Given the description of an element on the screen output the (x, y) to click on. 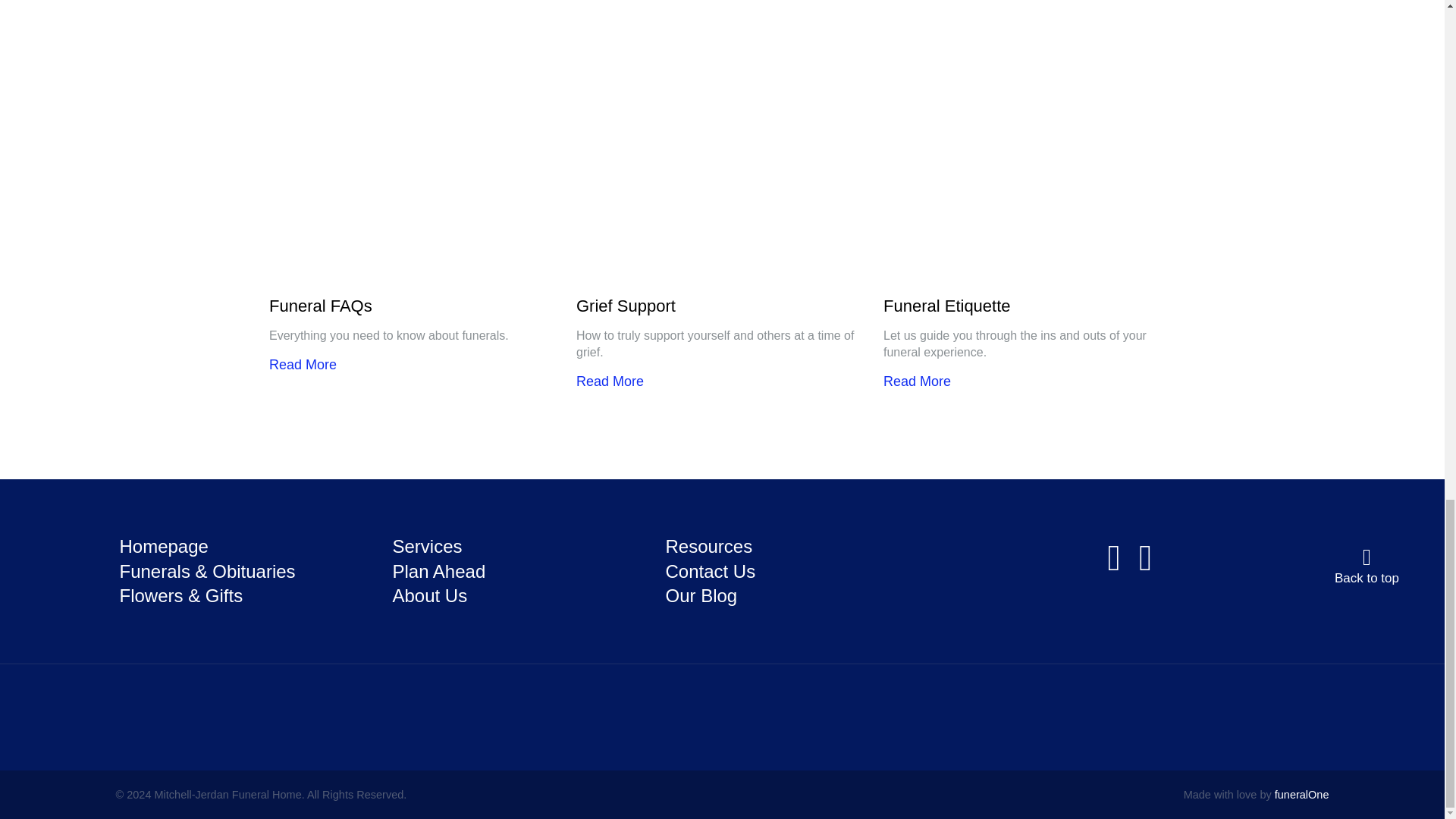
Homepage (163, 546)
Resources (708, 546)
Plan Ahead (437, 571)
About Us (429, 595)
Services (426, 546)
Contact Us (710, 571)
